Given the description of an element on the screen output the (x, y) to click on. 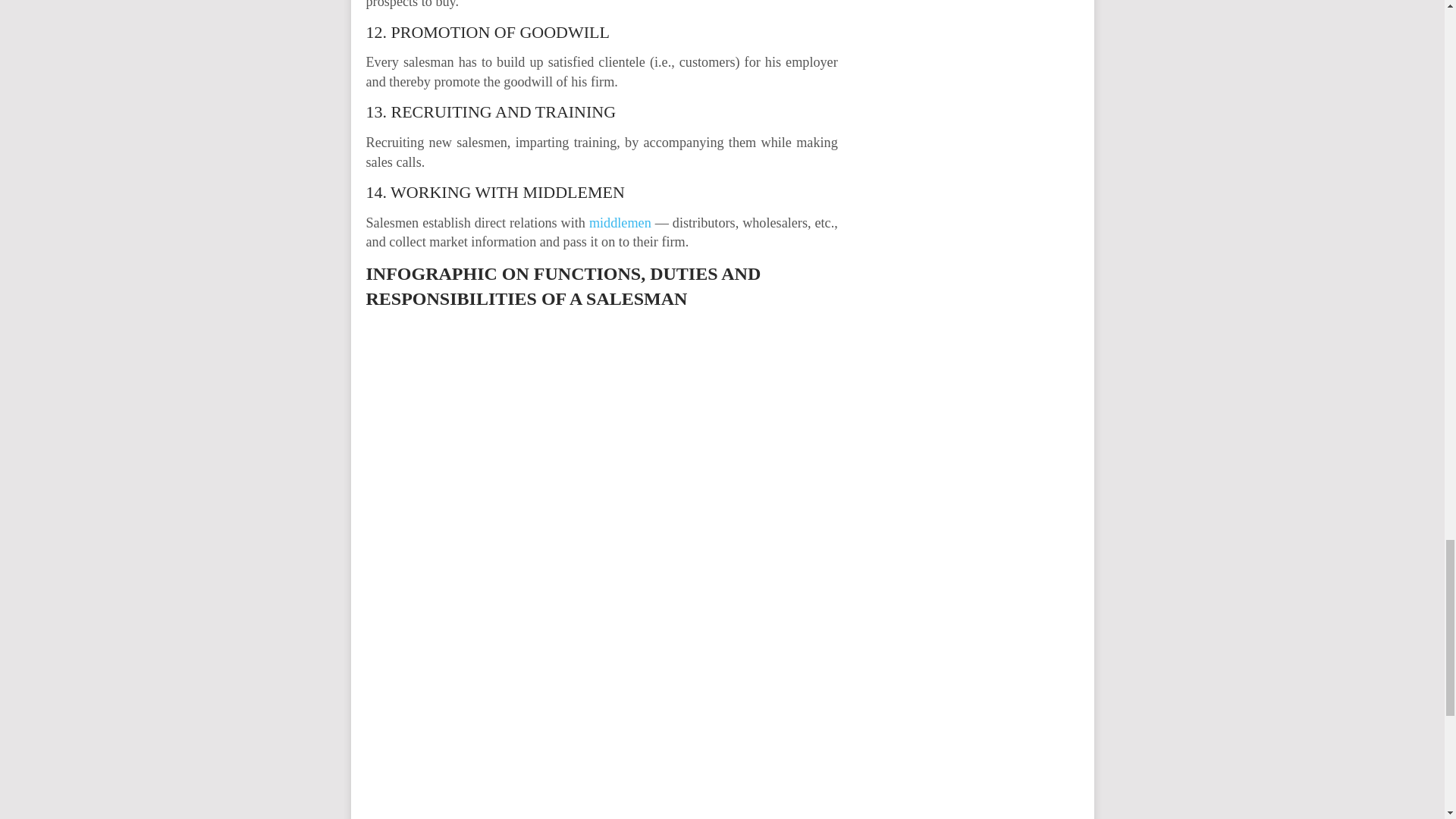
Functions, Duties and Responsibilities of a Salesman (601, 457)
middlemen (619, 222)
